Given the description of an element on the screen output the (x, y) to click on. 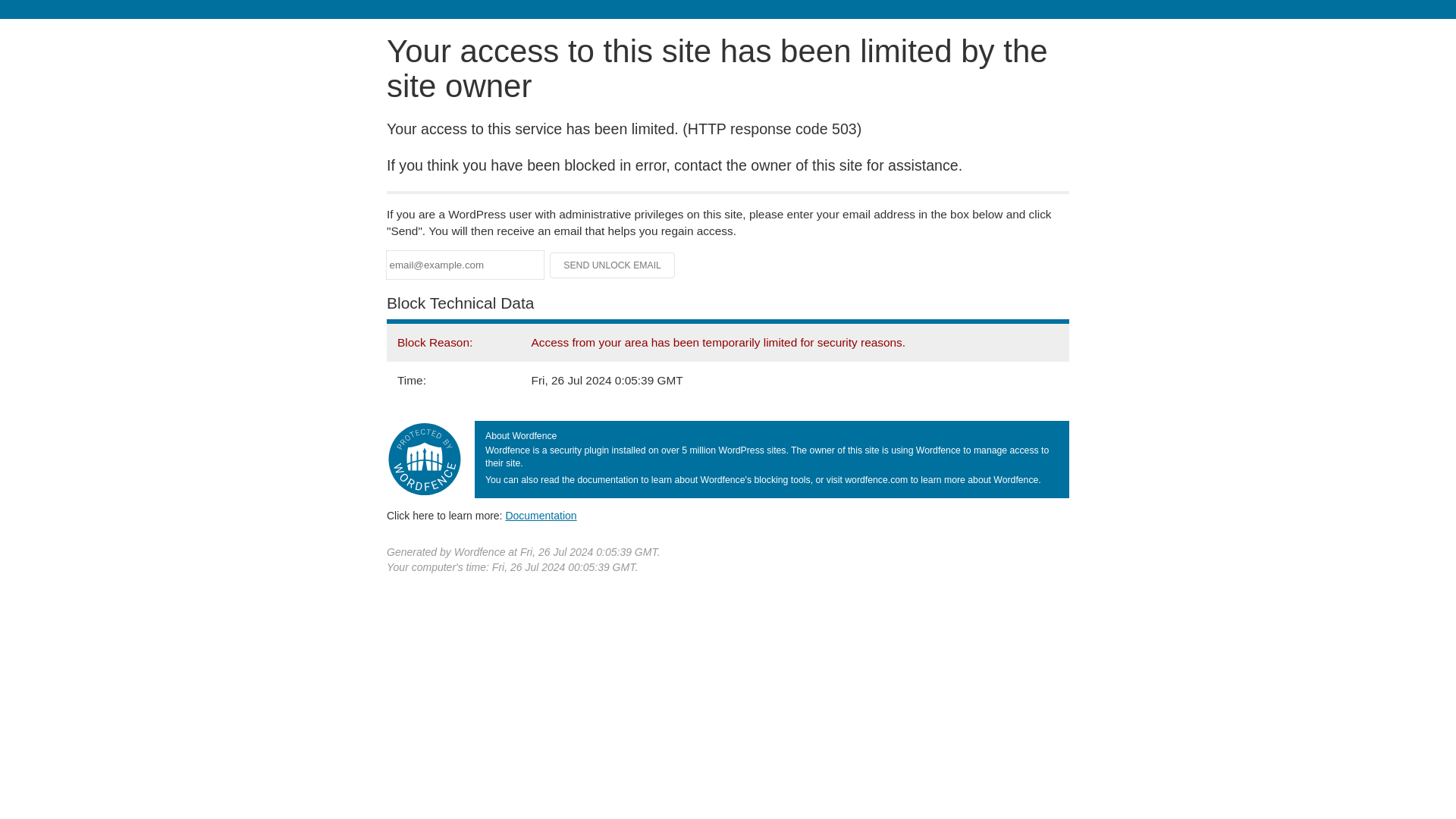
Send Unlock Email (612, 265)
Send Unlock Email (612, 265)
Documentation (540, 515)
